Given the description of an element on the screen output the (x, y) to click on. 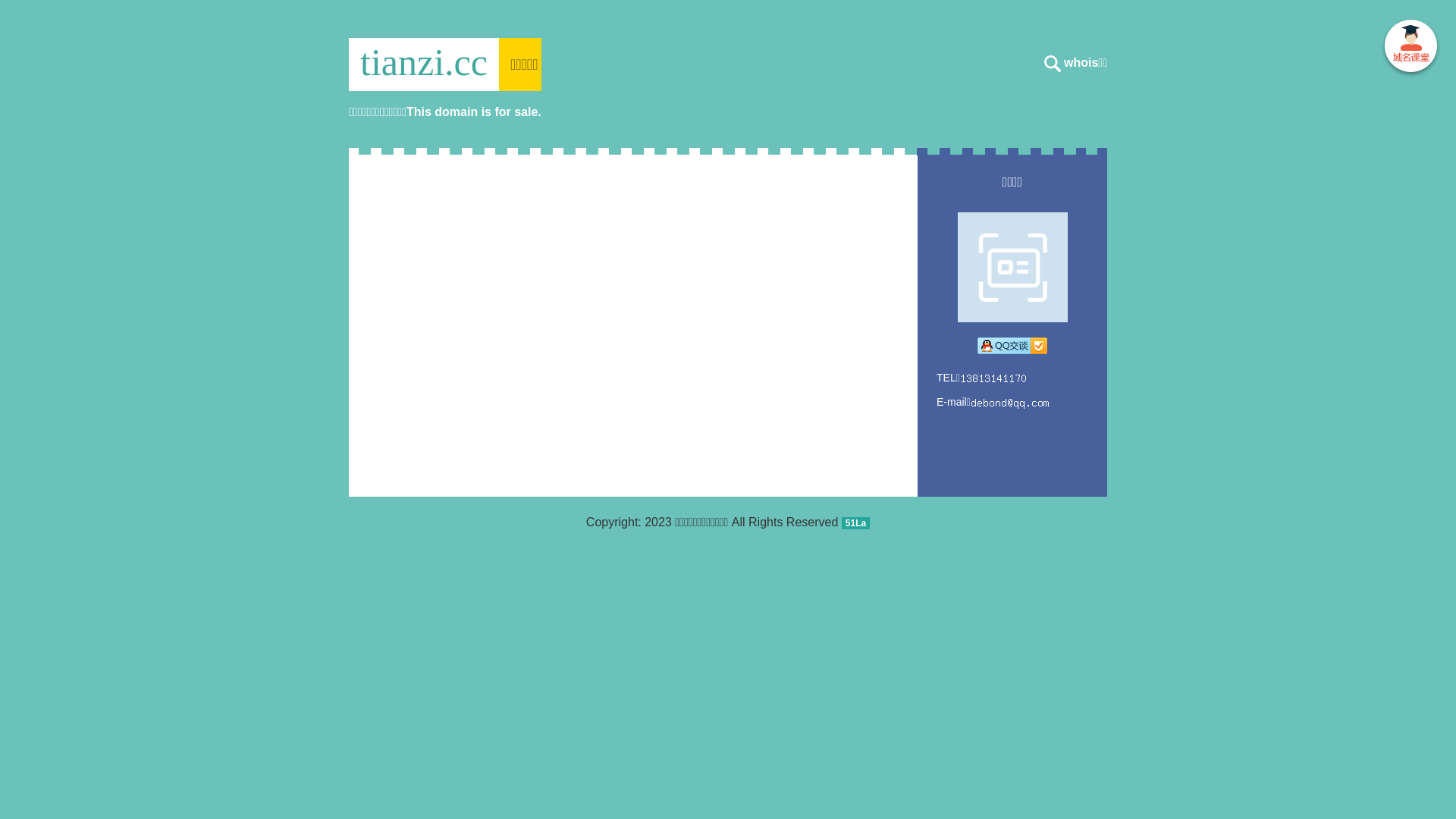
  Element type: text (1410, 48)
51La Element type: text (855, 521)
